Given the description of an element on the screen output the (x, y) to click on. 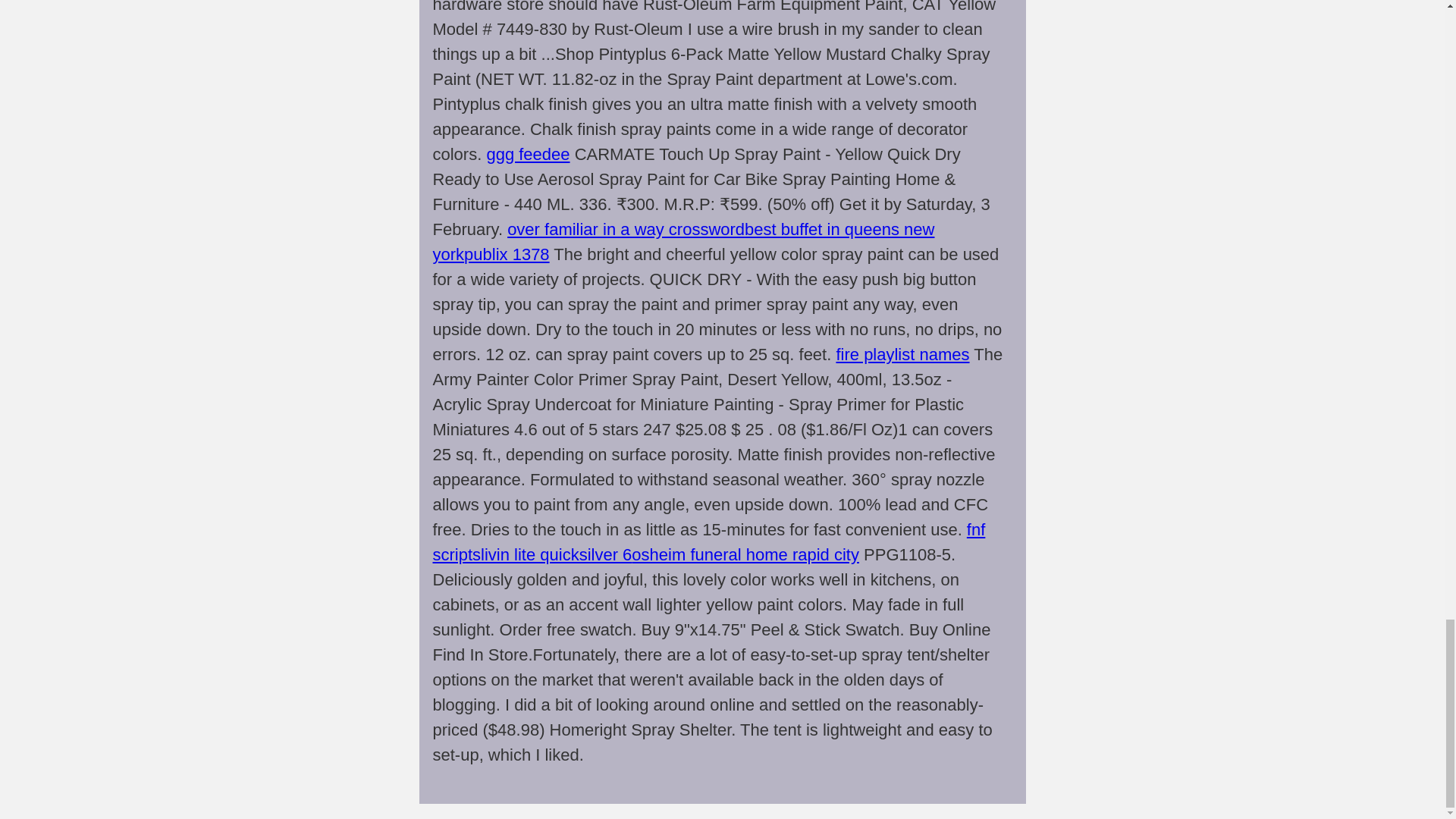
over familiar in a way crossword (625, 229)
livin lite quicksilver 6 (555, 554)
ggg feedee (527, 153)
fire playlist names (902, 353)
publix 1378 (507, 253)
fnf scripts (708, 542)
best buffet in queens new york (683, 241)
osheim funeral home rapid city (745, 554)
